Given the description of an element on the screen output the (x, y) to click on. 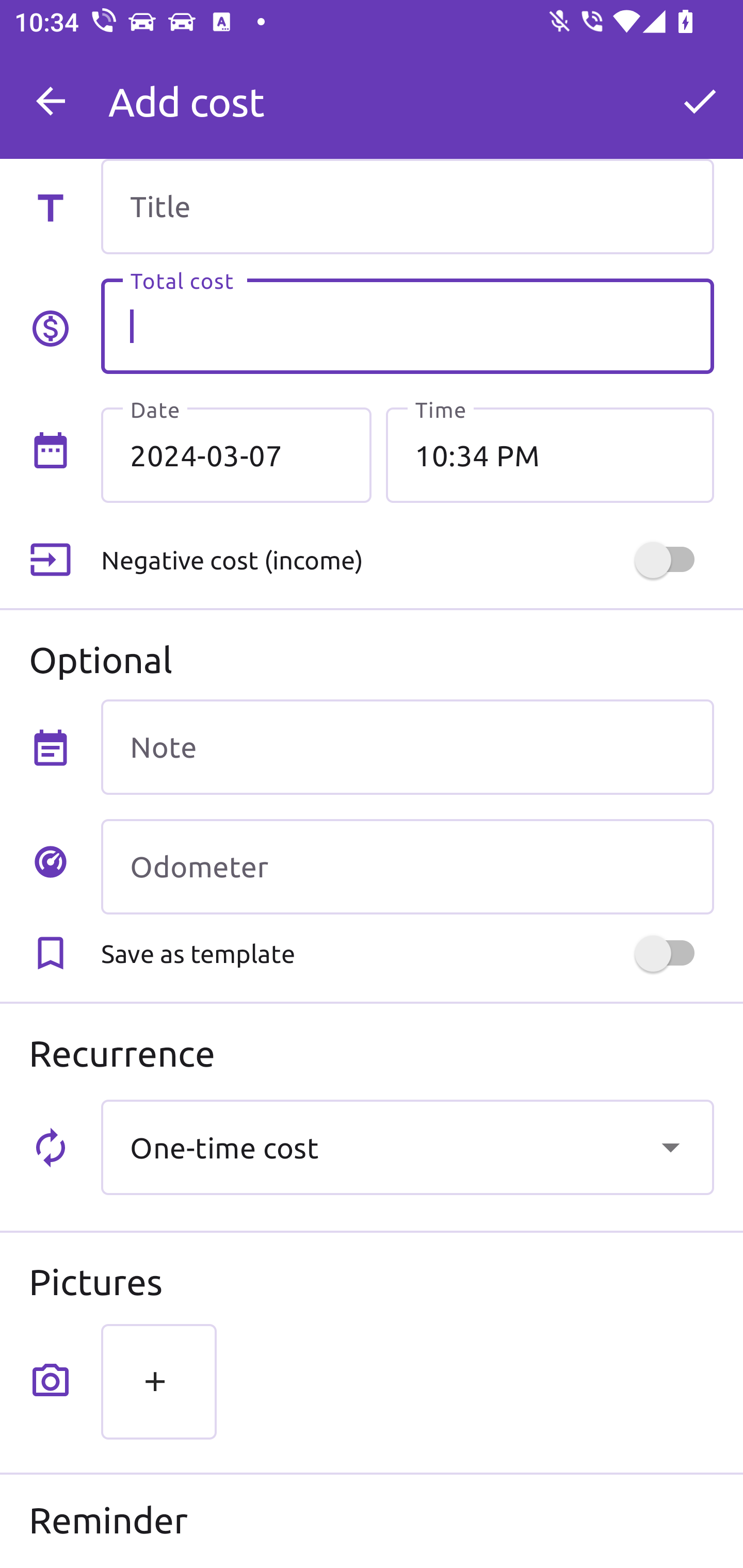
A No name 0 km (407, 92)
Navigate up (50, 101)
OK (699, 101)
Title (407, 206)
Total cost  (407, 326)
2024-03-07 (236, 455)
10:34 PM (549, 455)
Negative cost (income) (407, 559)
Note (407, 746)
Odometer (407, 866)
Save as template (407, 953)
One-time cost (407, 1146)
Show dropdown menu (670, 1146)
